Given the description of an element on the screen output the (x, y) to click on. 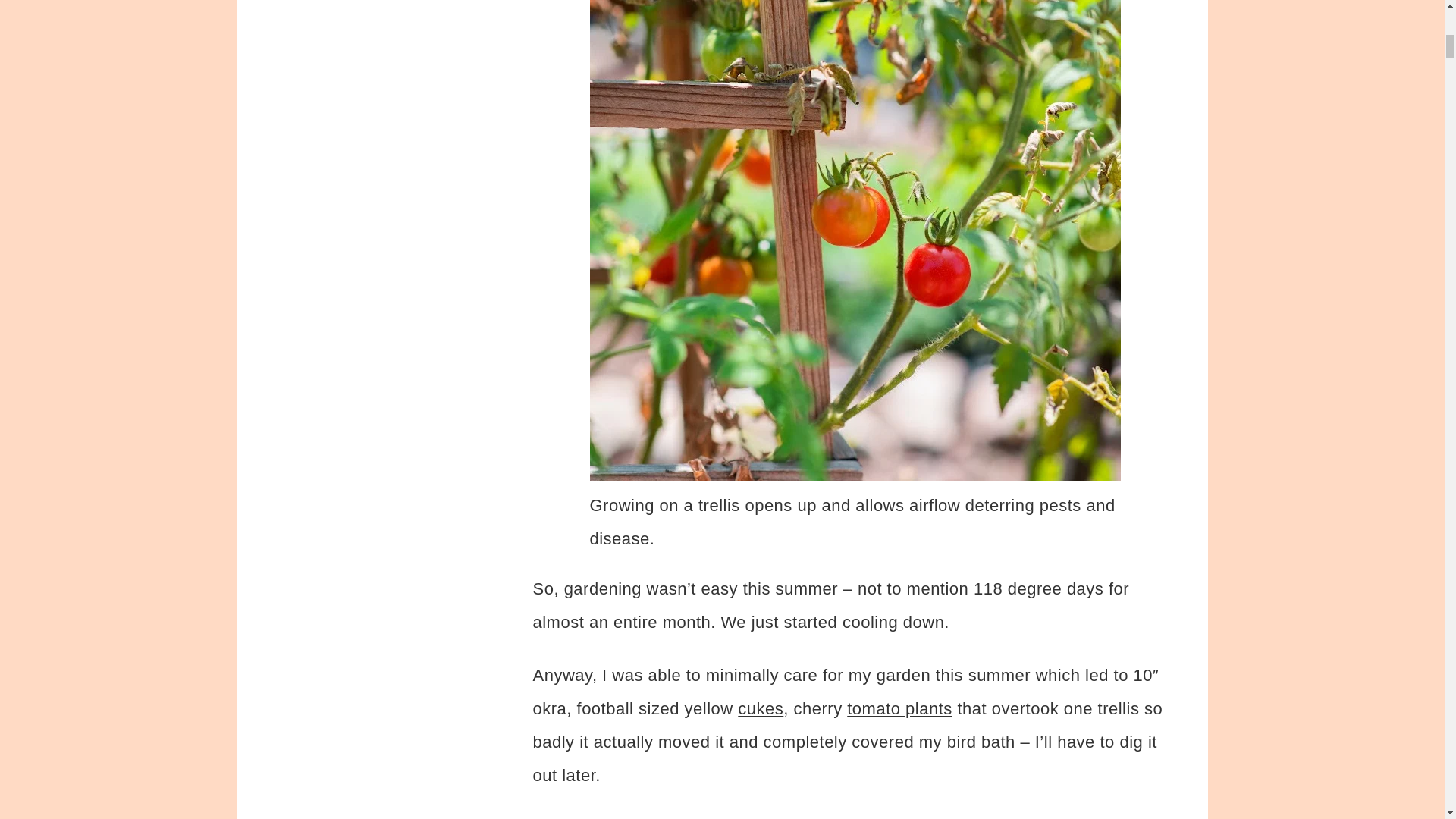
cukes (760, 708)
tomato plants (899, 708)
